Given the description of an element on the screen output the (x, y) to click on. 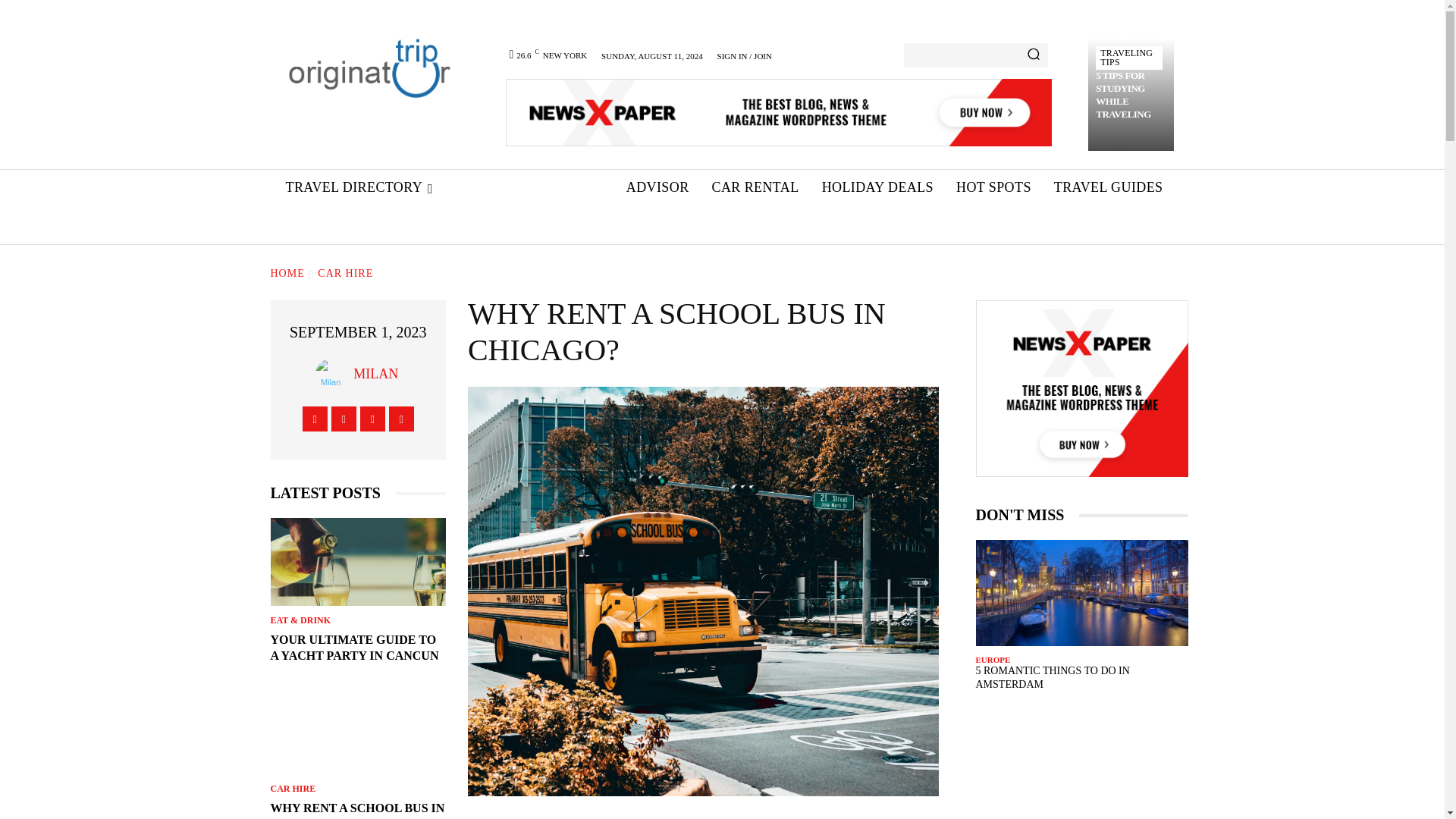
5 TIPS FOR STUDYING WHILE TRAVELING (1123, 94)
TRAVELING TIPS (1128, 57)
5 Tips for Studying While Traveling (1123, 94)
TRAVEL DIRECTORY (358, 188)
